Given the description of an element on the screen output the (x, y) to click on. 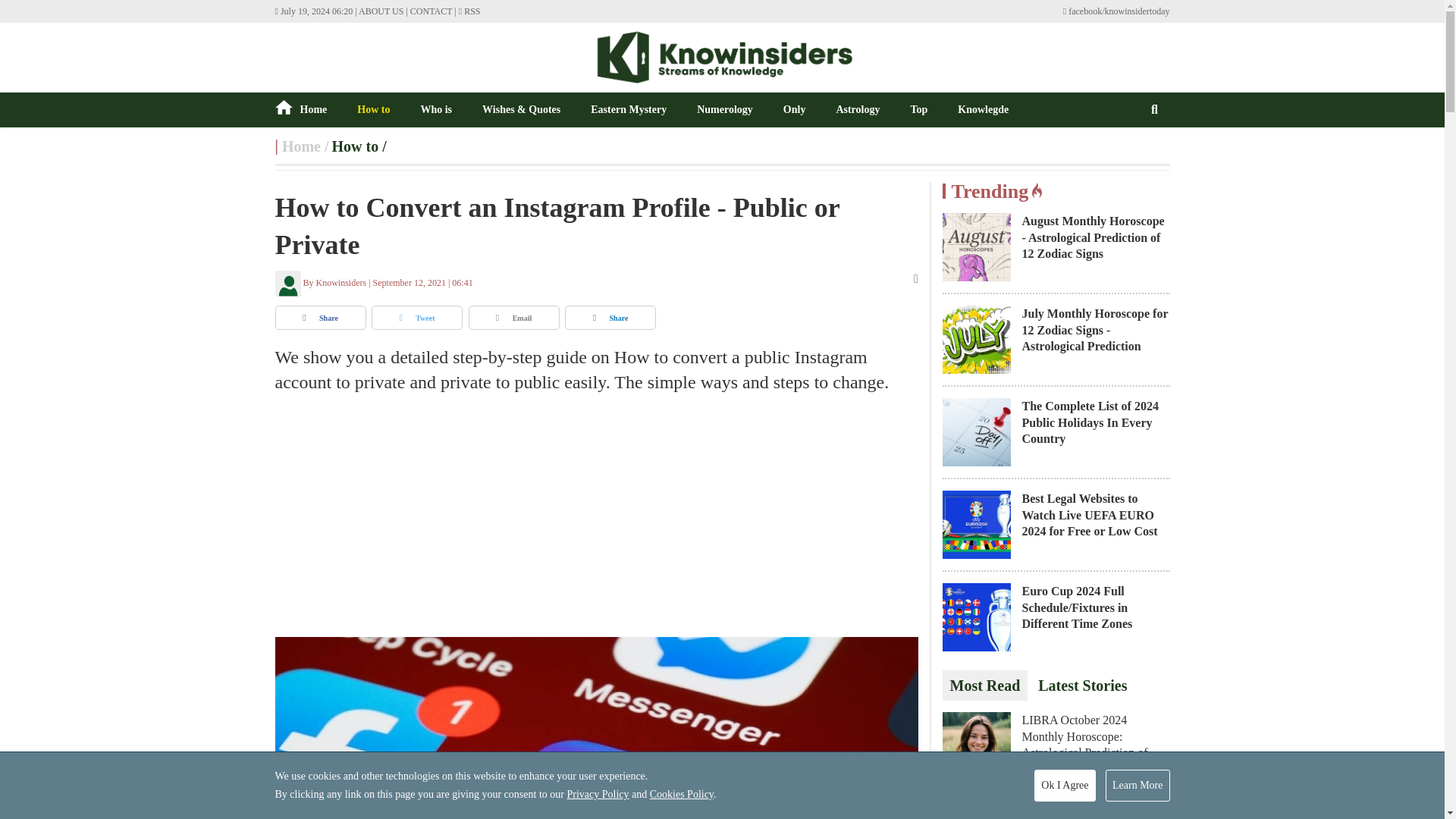
Eastern Mystery (628, 109)
Knowlegde (983, 109)
RSS (469, 10)
Top (918, 109)
Only (794, 109)
Share (320, 317)
KnowInsiders (301, 146)
Home (301, 146)
KnowInsiders (722, 56)
Home (300, 109)
Astrology (857, 109)
How to (354, 146)
ABOUT US (380, 10)
Who is (435, 109)
Email (513, 317)
